Given the description of an element on the screen output the (x, y) to click on. 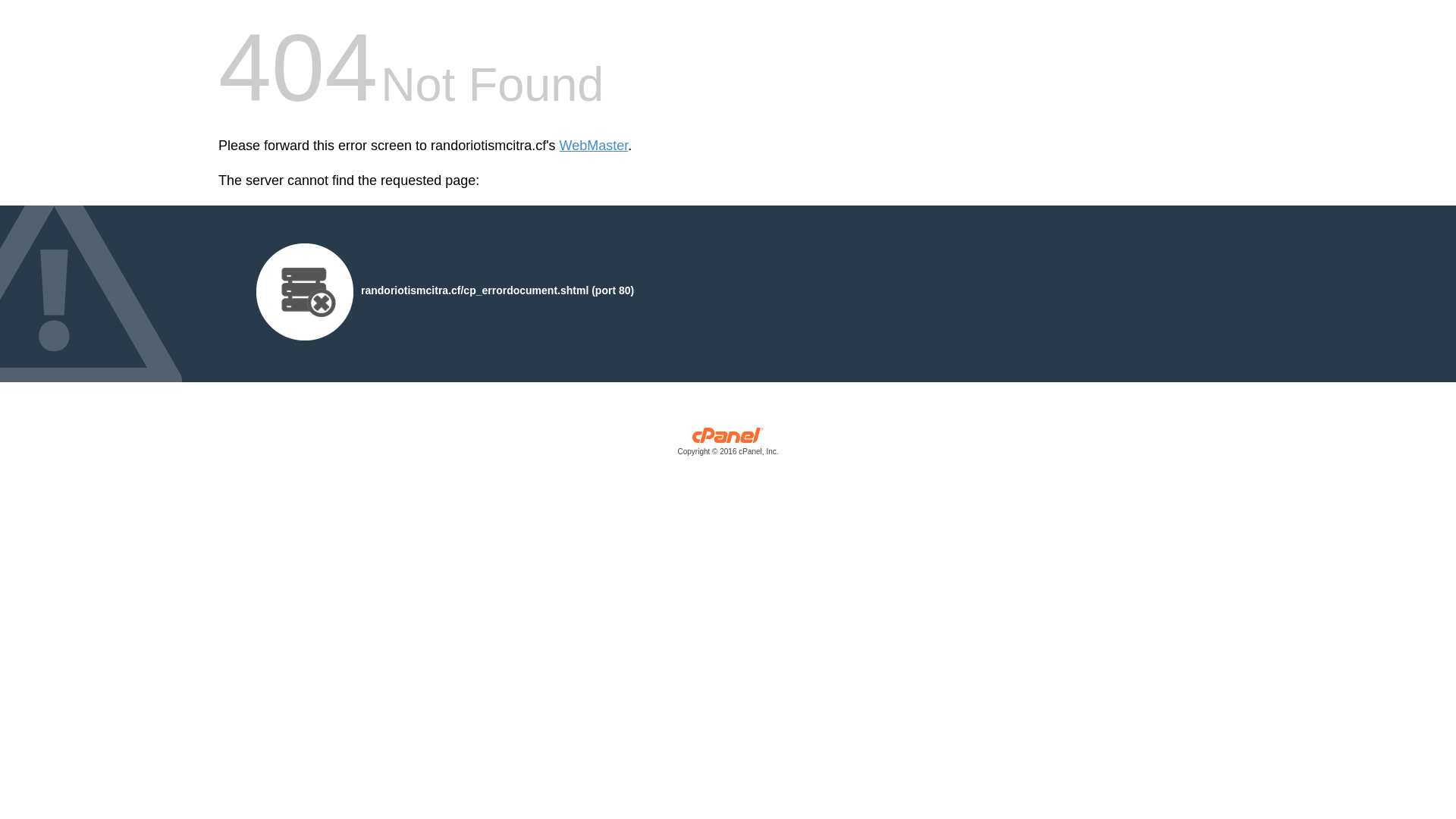
WebMaster Element type: text (593, 145)
